Given the description of an element on the screen output the (x, y) to click on. 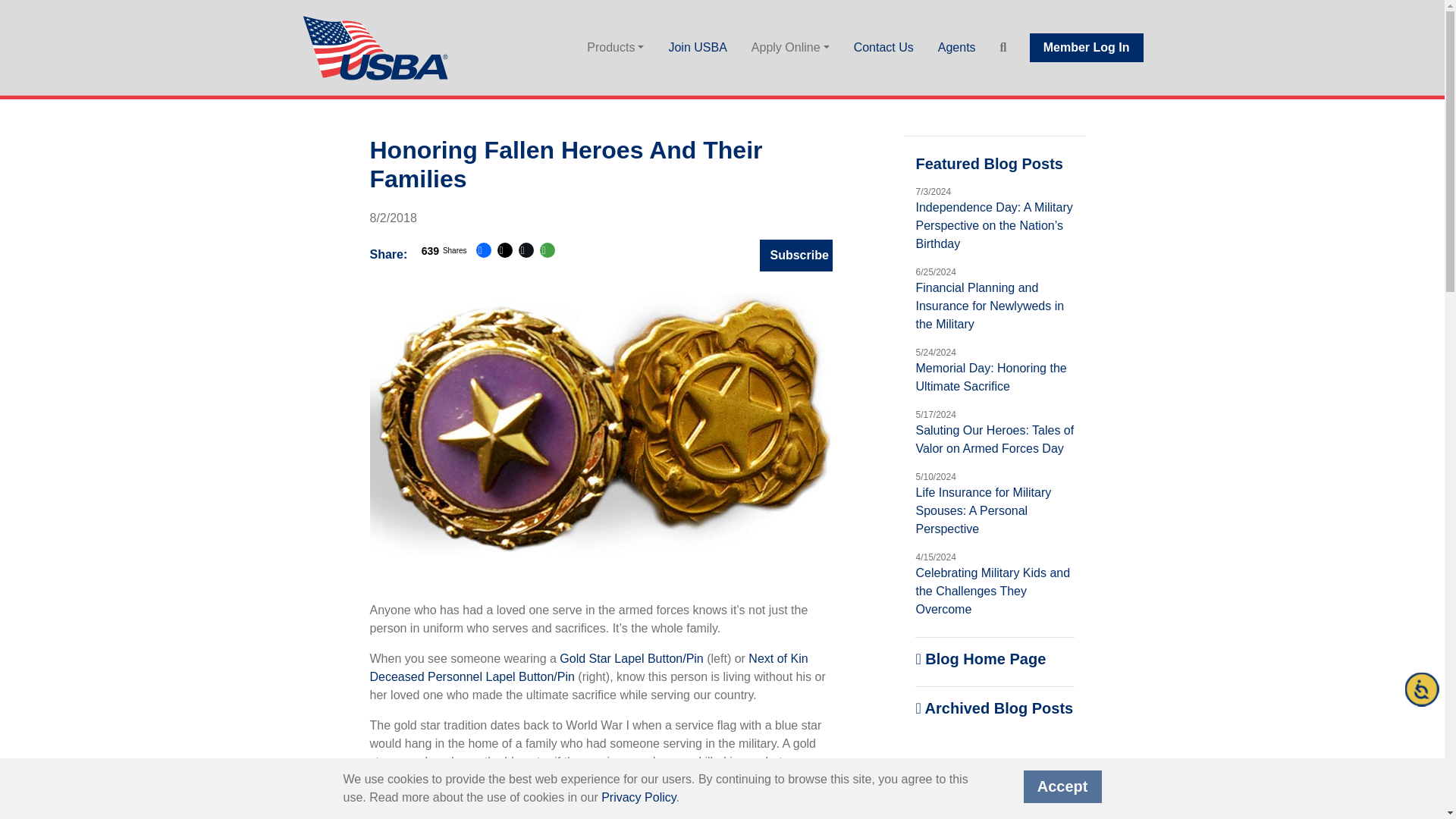
Products (615, 47)
Click here to return to the USBA homepage (376, 47)
